Given the description of an element on the screen output the (x, y) to click on. 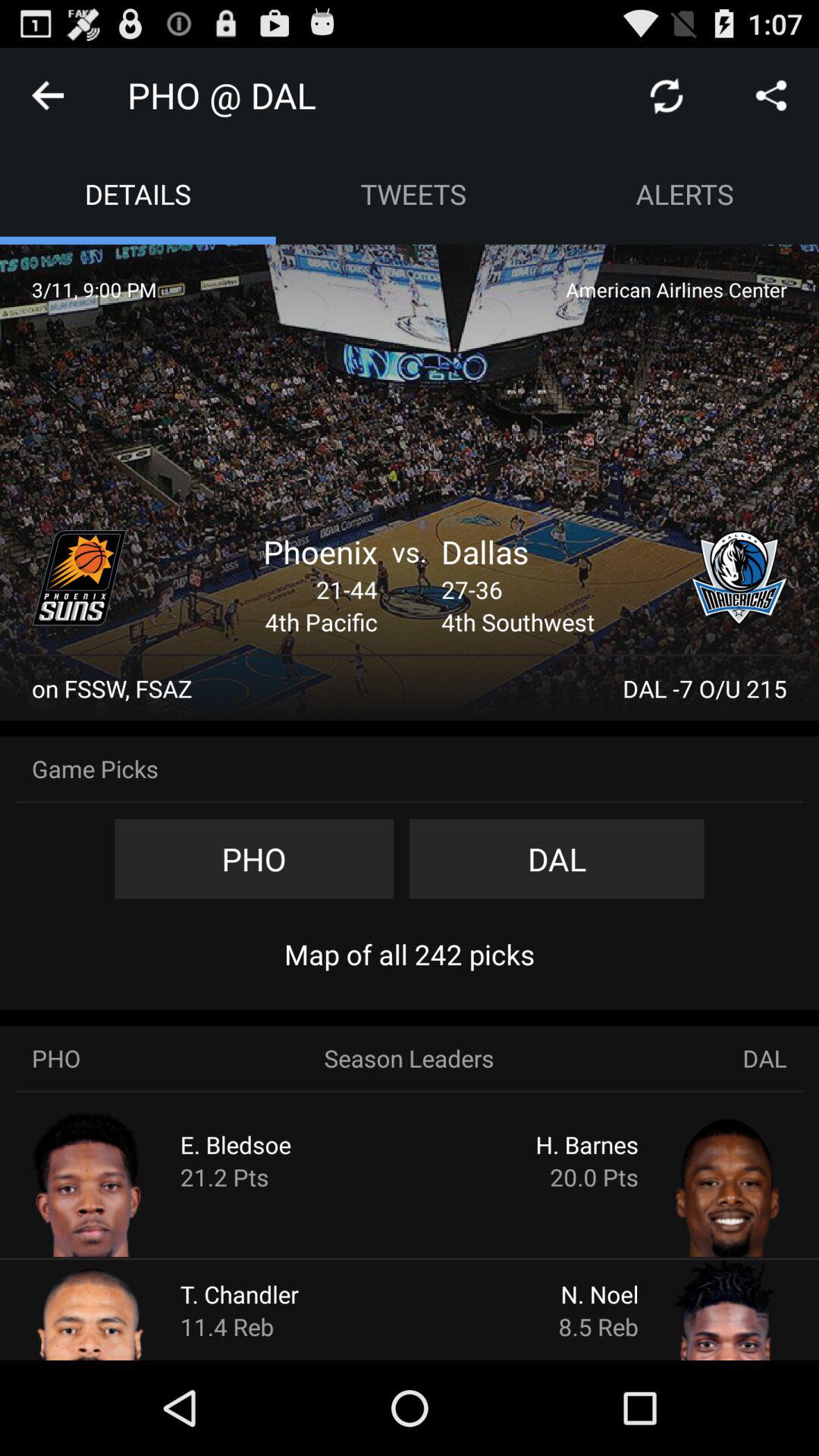
player profile (119, 1309)
